Given the description of an element on the screen output the (x, y) to click on. 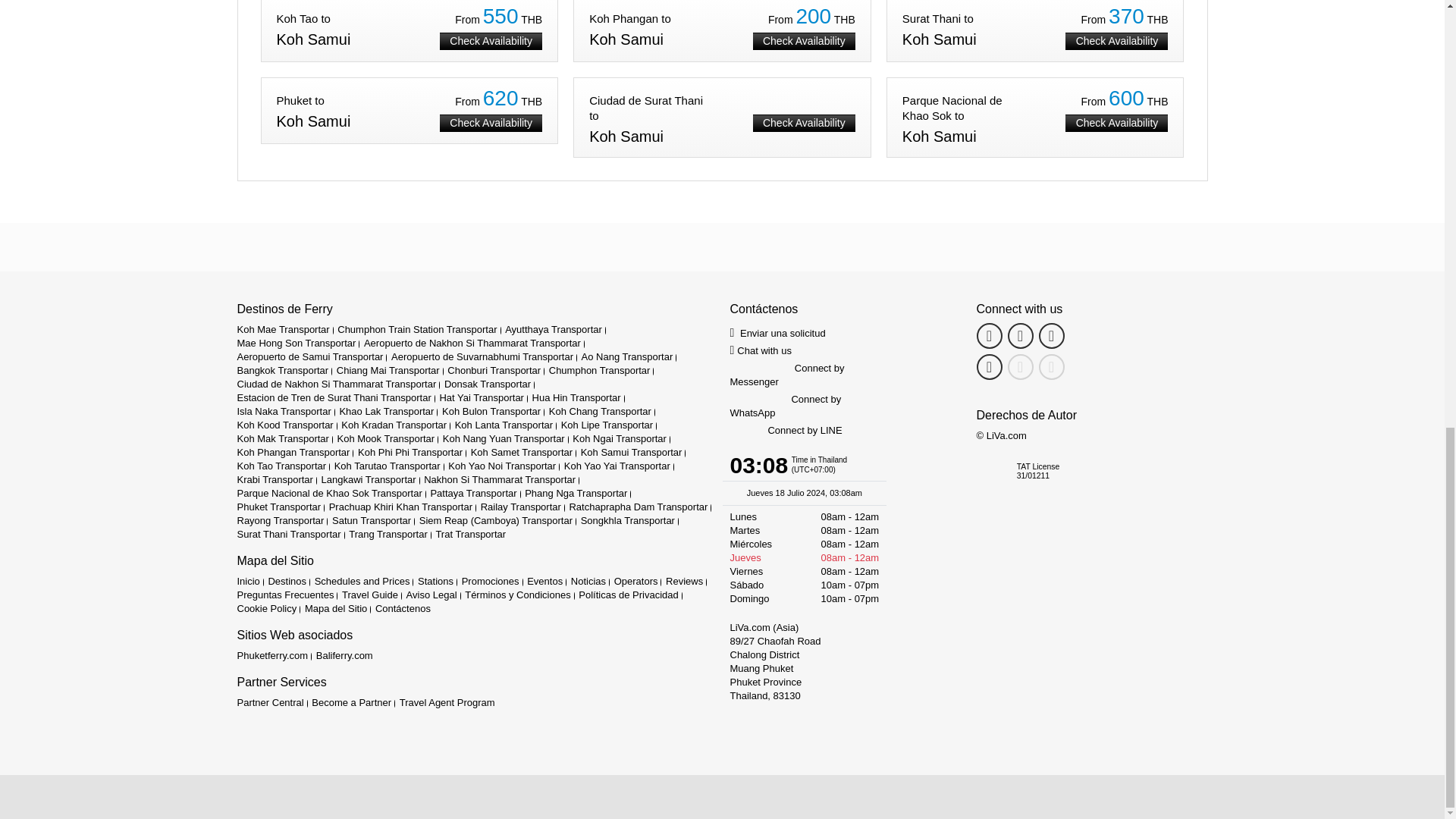
www.baliferry.com (343, 655)
www.phuketferry.com (271, 655)
